Given the description of an element on the screen output the (x, y) to click on. 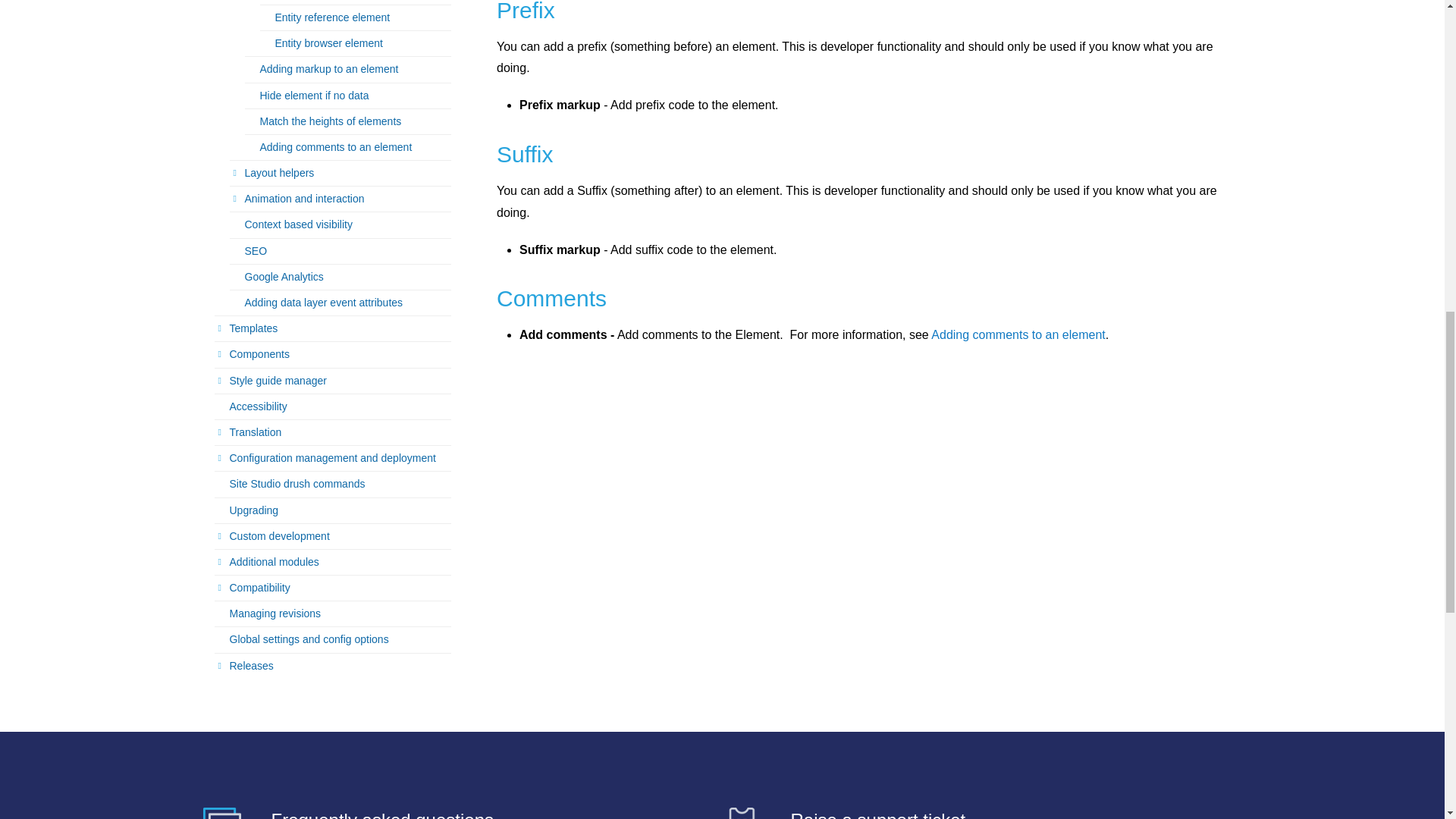
Adding comments to an element (1018, 334)
DX8 knowledge base (222, 813)
Raise a ticket icon (741, 813)
